Given the description of an element on the screen output the (x, y) to click on. 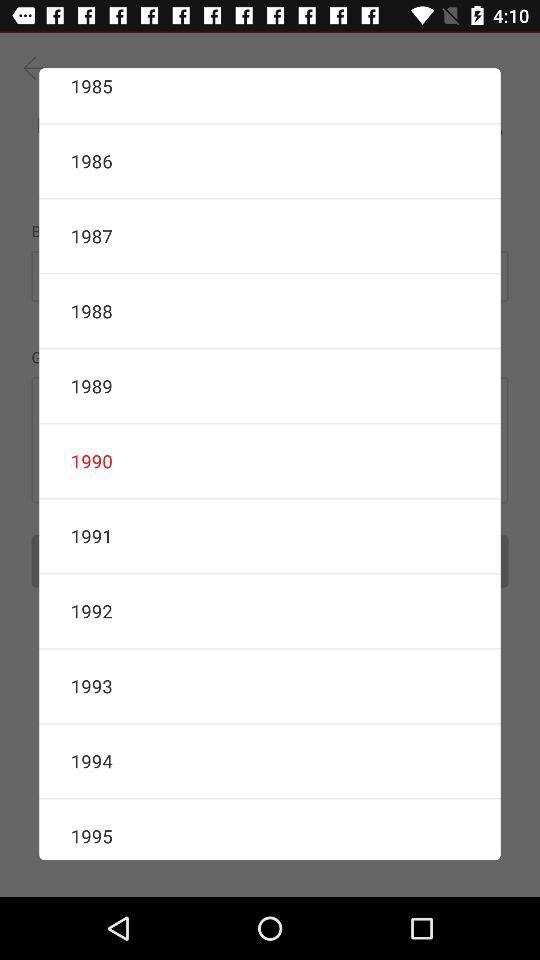
tap the item below 1985 item (269, 160)
